Given the description of an element on the screen output the (x, y) to click on. 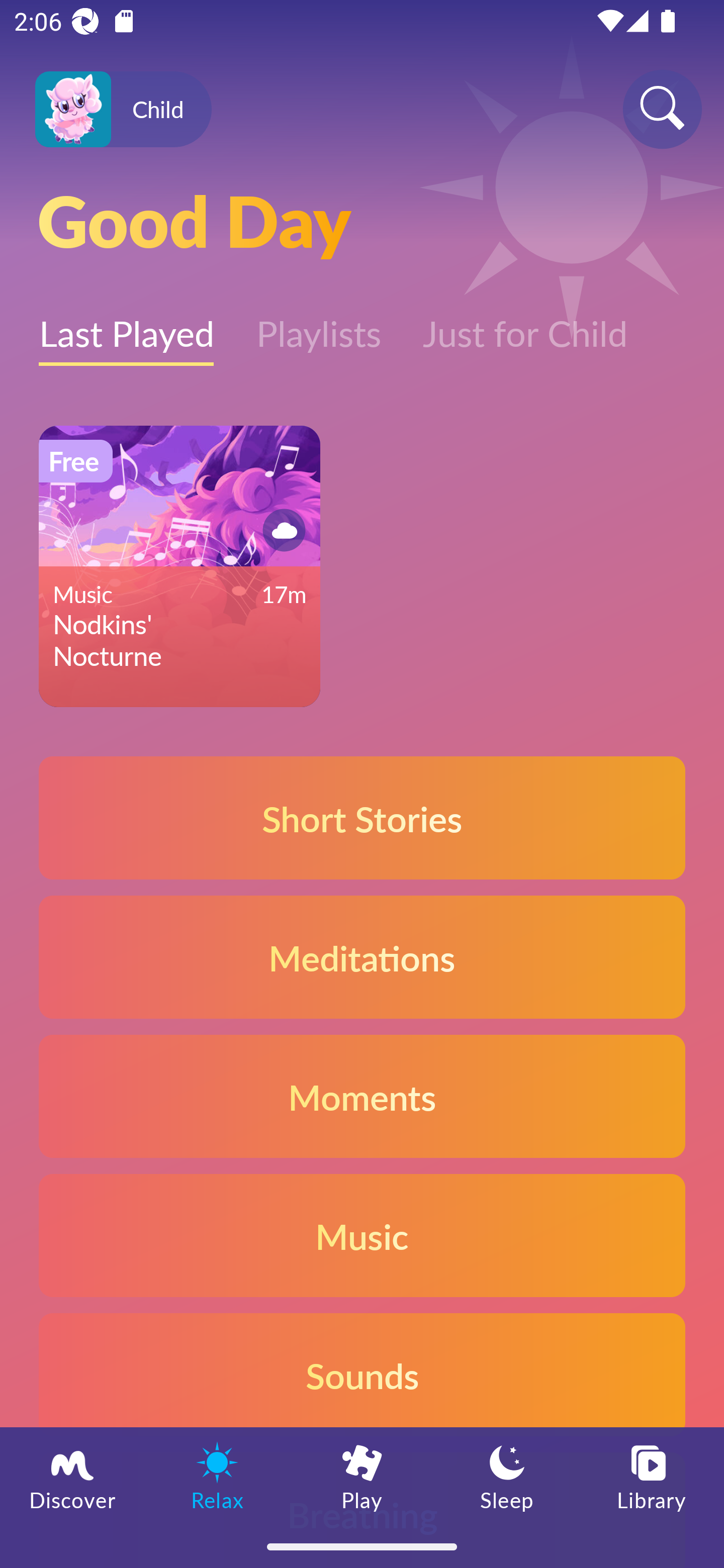
Profile icon Child (123, 109)
Playlists (317, 322)
Just for Child (524, 322)
Button (280, 529)
Short Stories (361, 817)
Meditations (361, 957)
Moments (361, 1096)
Music (361, 1234)
Sounds (361, 1374)
Discover (72, 1475)
Play (361, 1475)
Sleep (506, 1475)
Library (651, 1475)
